Given the description of an element on the screen output the (x, y) to click on. 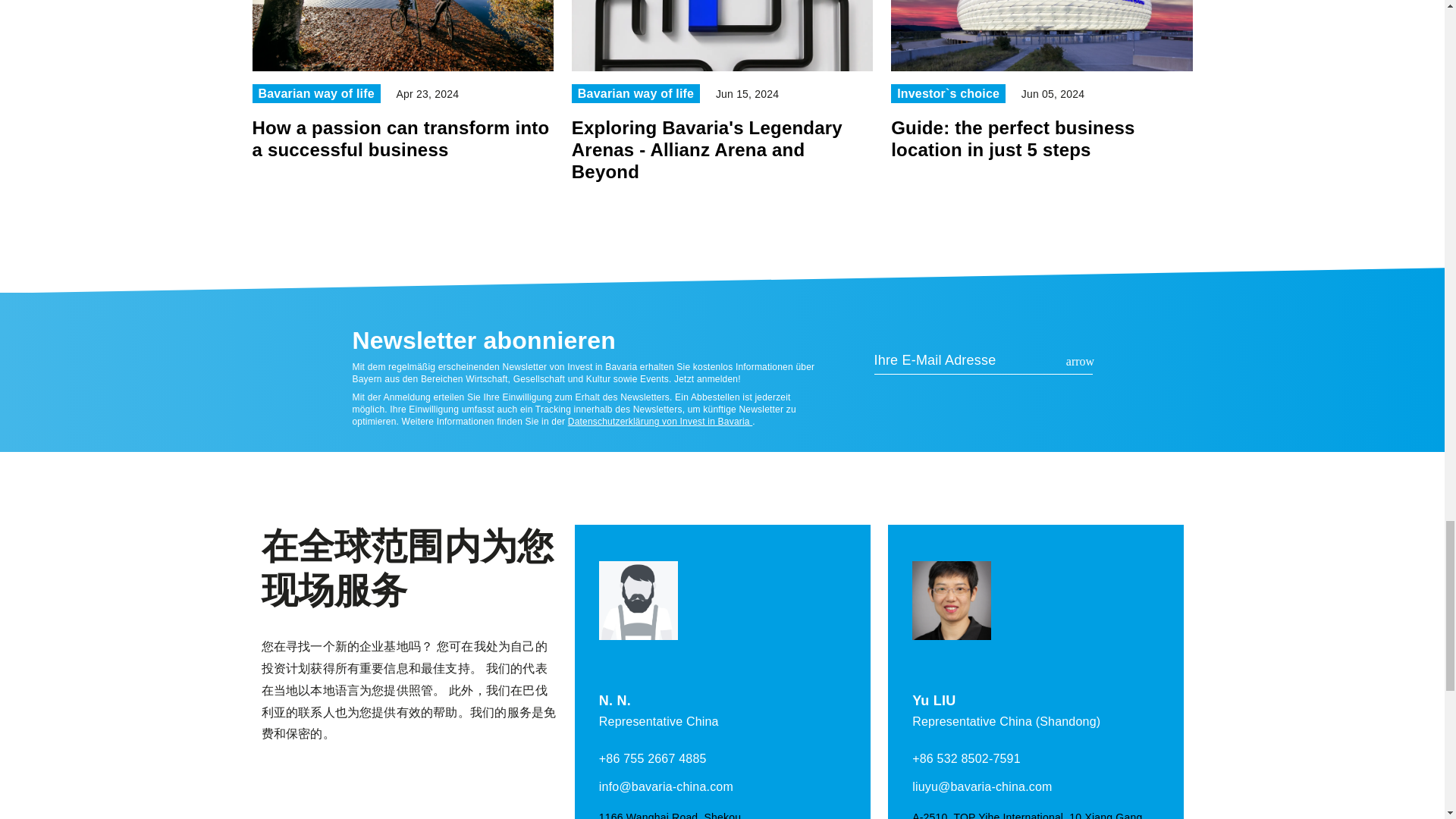
arrow (1079, 361)
